Given the description of an element on the screen output the (x, y) to click on. 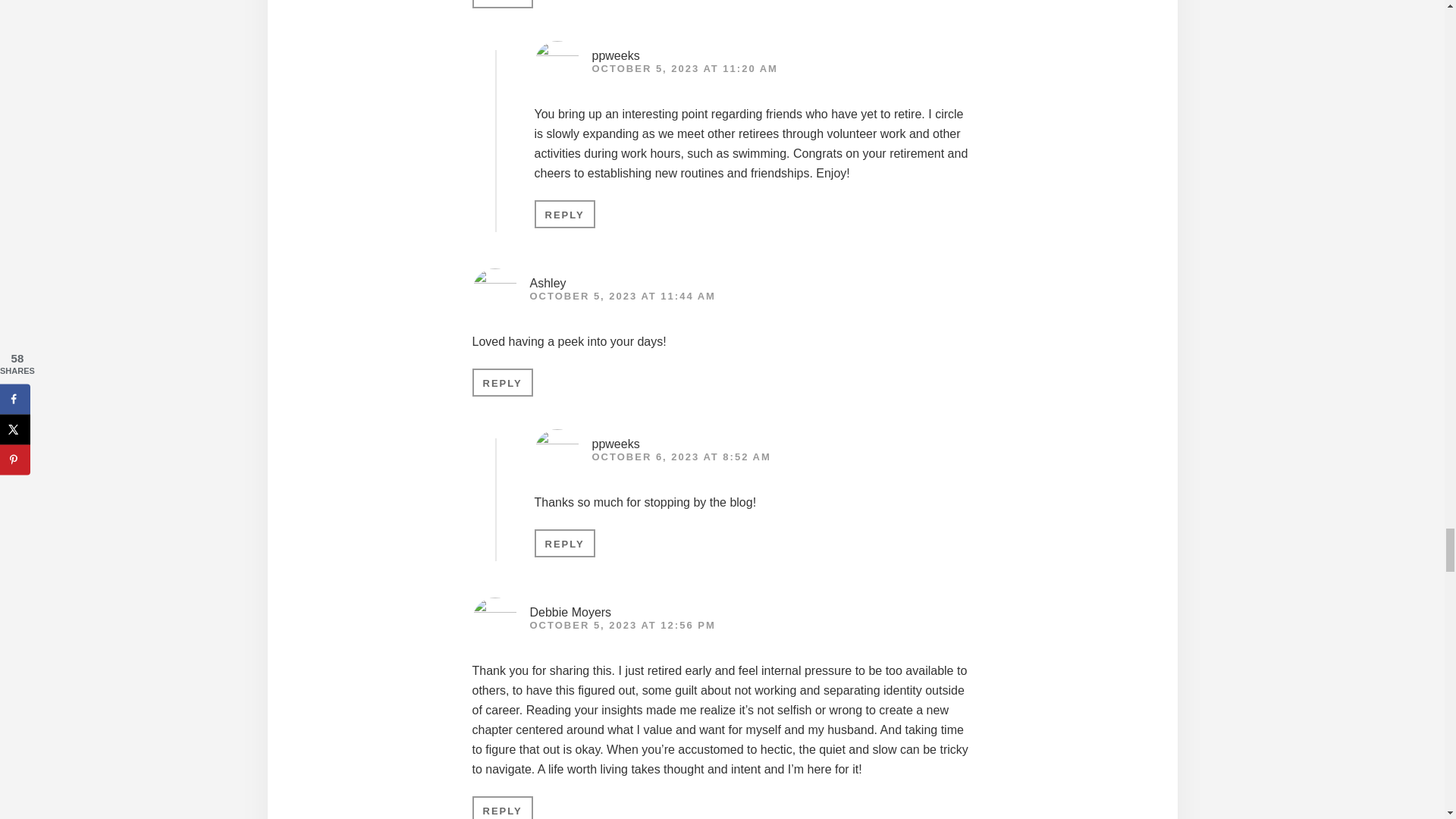
OCTOBER 5, 2023 AT 11:44 AM (621, 296)
REPLY (564, 213)
REPLY (501, 382)
OCTOBER 5, 2023 AT 11:20 AM (684, 68)
OCTOBER 5, 2023 AT 12:56 PM (621, 624)
REPLY (501, 4)
OCTOBER 6, 2023 AT 8:52 AM (680, 456)
REPLY (564, 543)
